Given the description of an element on the screen output the (x, y) to click on. 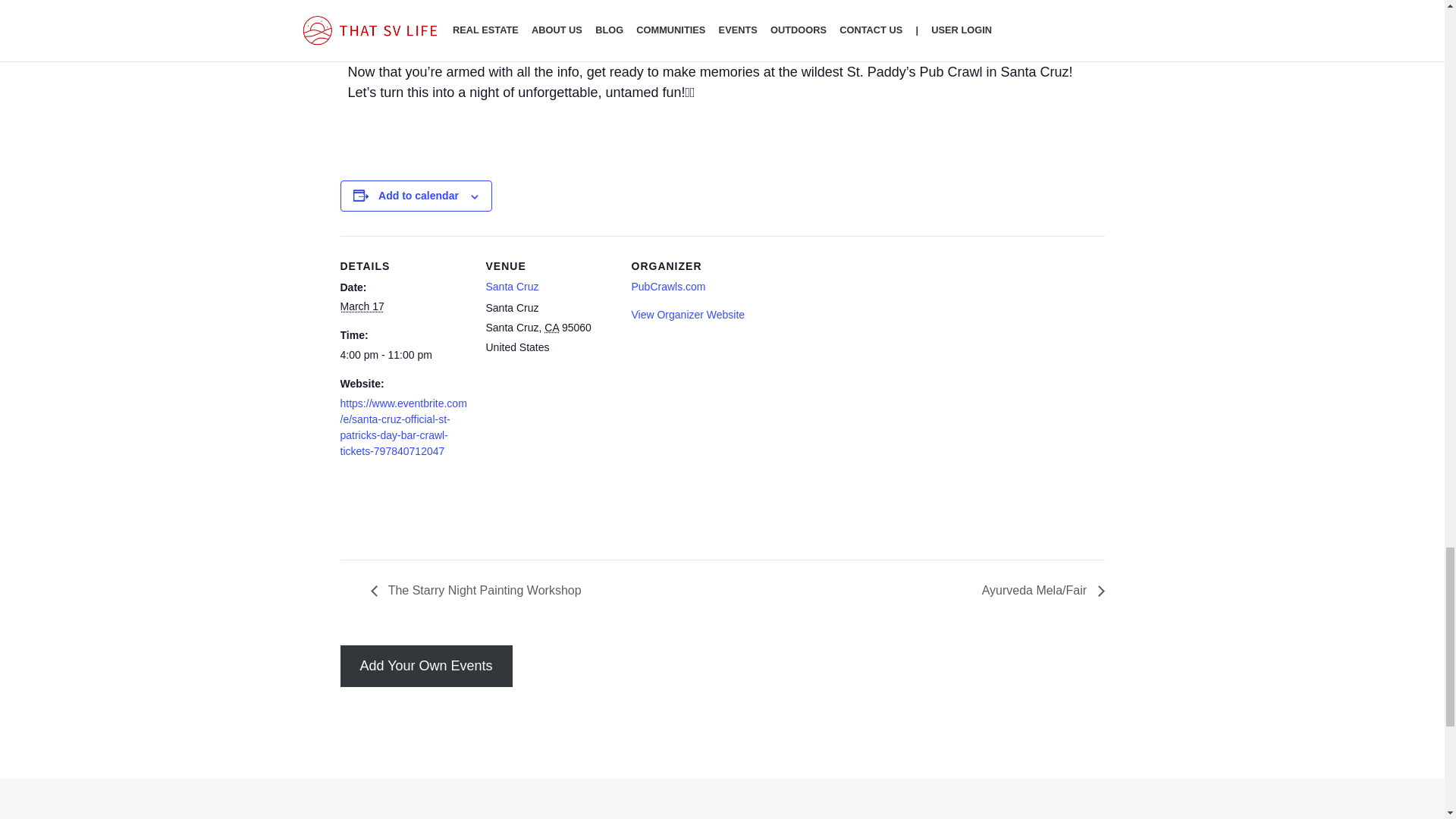
PubCrawls.com (667, 286)
2024-03-17 (403, 355)
California (551, 327)
2024-03-17 (361, 306)
